Given the description of an element on the screen output the (x, y) to click on. 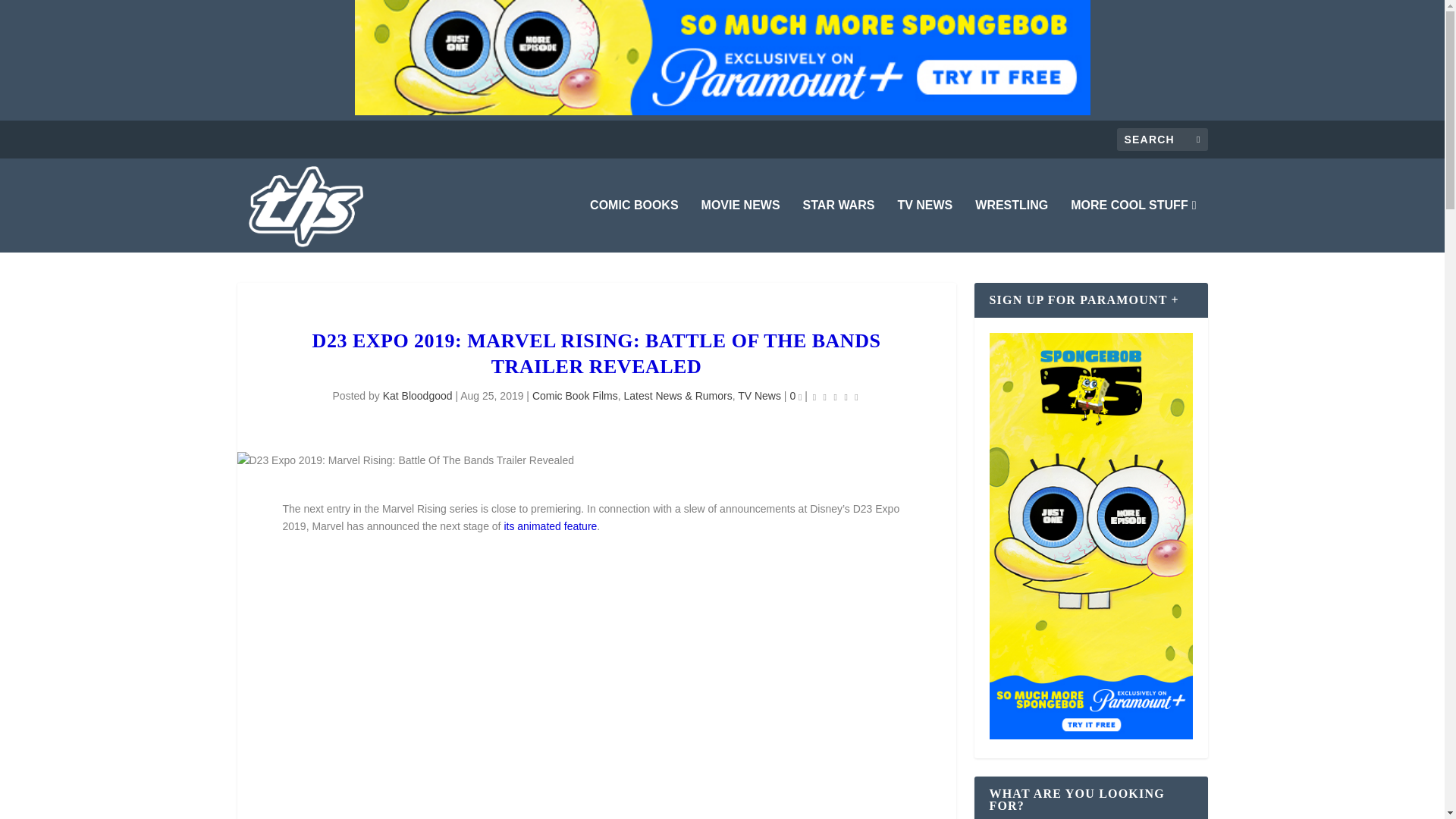
its animated feature (549, 526)
STAR WARS (839, 225)
MOVIE NEWS (740, 225)
0 (795, 395)
MORE COOL STUFF (1132, 225)
Comic Book Films (574, 395)
TV News (759, 395)
COMIC BOOKS (633, 225)
Kat Bloodgood (417, 395)
TV NEWS (924, 225)
Posts by Kat Bloodgood (417, 395)
Rating: 0.00 (835, 396)
Search for: (1161, 138)
WRESTLING (1011, 225)
